Given the description of an element on the screen output the (x, y) to click on. 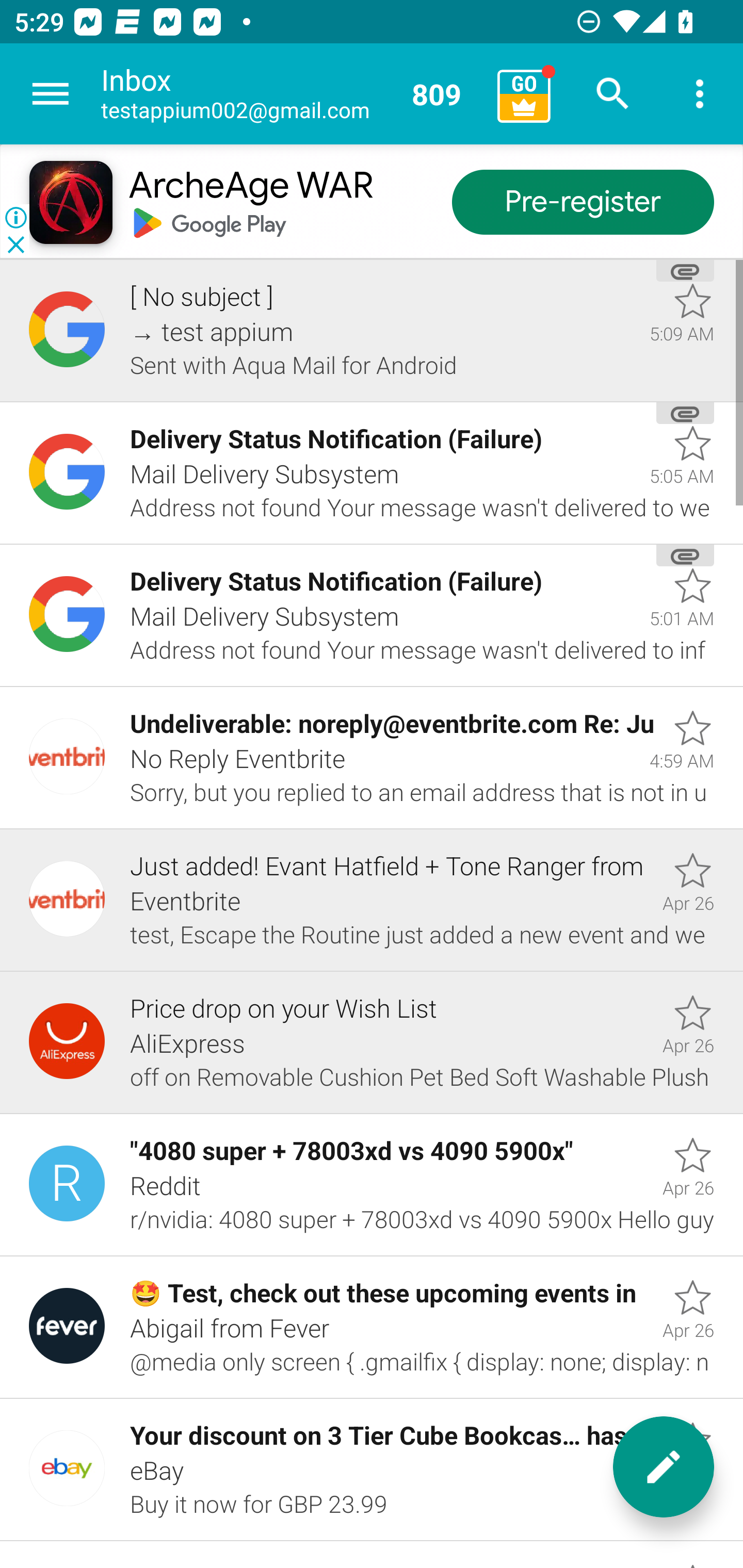
Navigate up (50, 93)
Inbox testappium002@gmail.com 809 (291, 93)
Search (612, 93)
More options (699, 93)
ArcheAge WAR (250, 186)
Pre-register (582, 202)
New message (663, 1466)
